Given the description of an element on the screen output the (x, y) to click on. 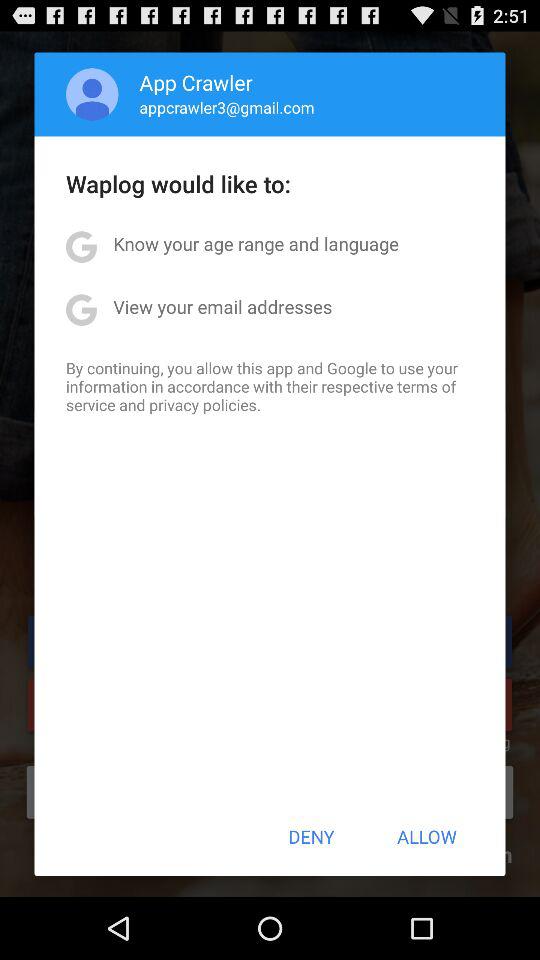
turn off item below the by continuing you app (311, 836)
